Given the description of an element on the screen output the (x, y) to click on. 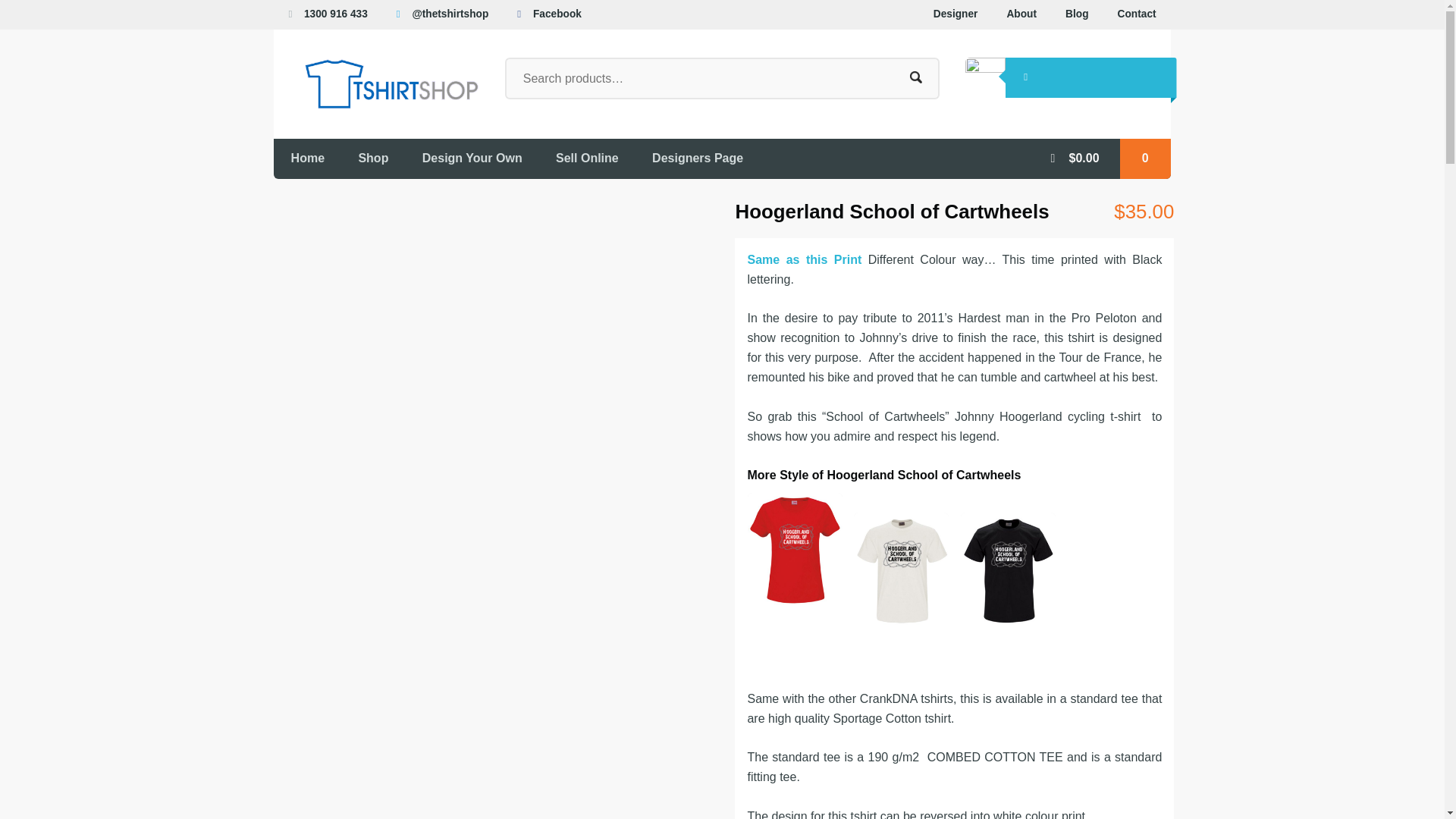
Blog (1076, 14)
Facebook (556, 13)
Sell Online (586, 158)
Log In (1026, 77)
Designers Page (697, 158)
Contact (1136, 14)
Designer (955, 14)
Search (915, 77)
Home (306, 158)
